Given the description of an element on the screen output the (x, y) to click on. 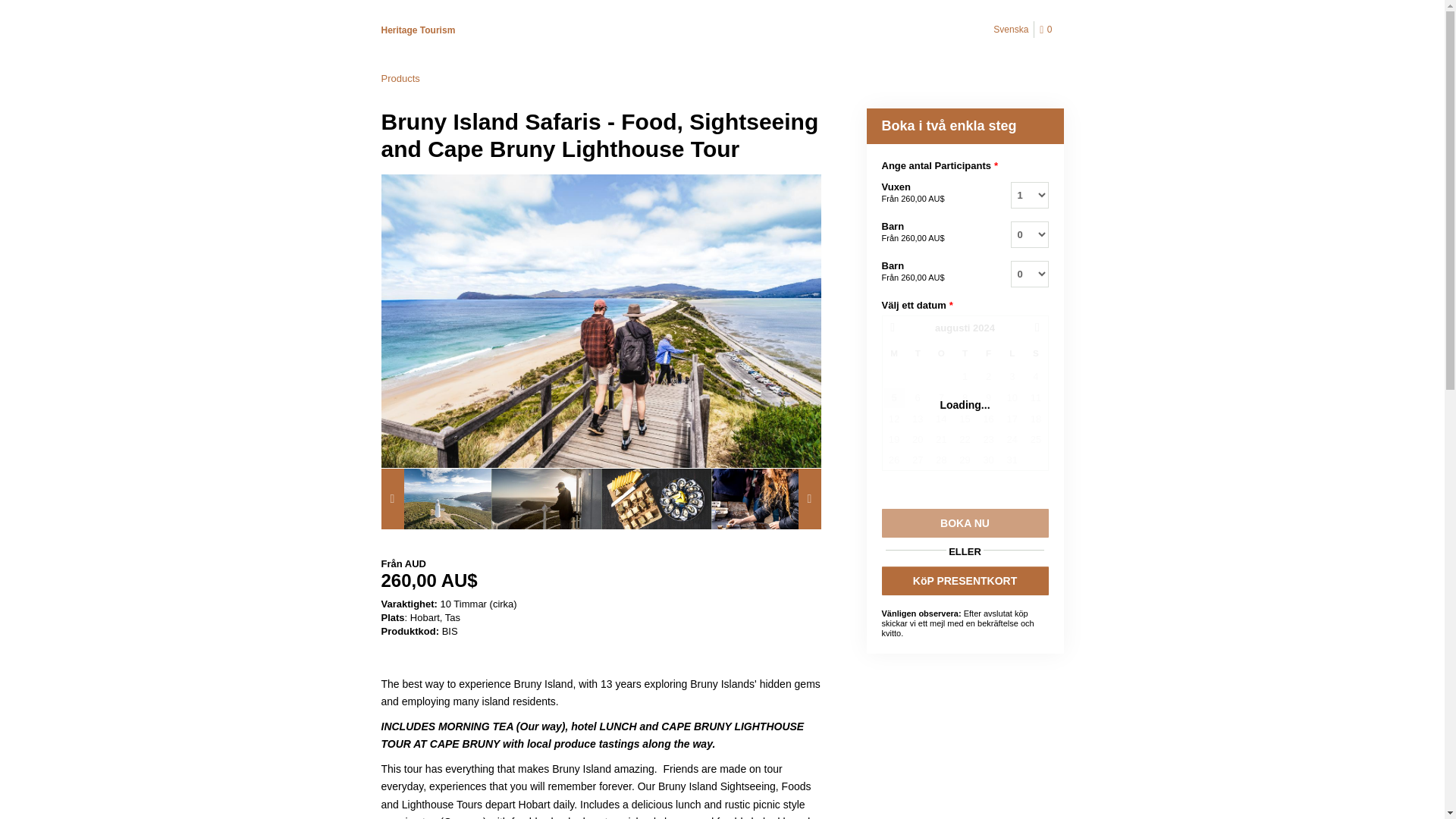
Svenska (1010, 29)
fredag (988, 352)
onsdag (940, 352)
Heritage Tourism (417, 30)
Products (399, 78)
torsdag (965, 352)
0 (1047, 30)
BOKA NU (964, 522)
tisdag (917, 352)
